Given the description of an element on the screen output the (x, y) to click on. 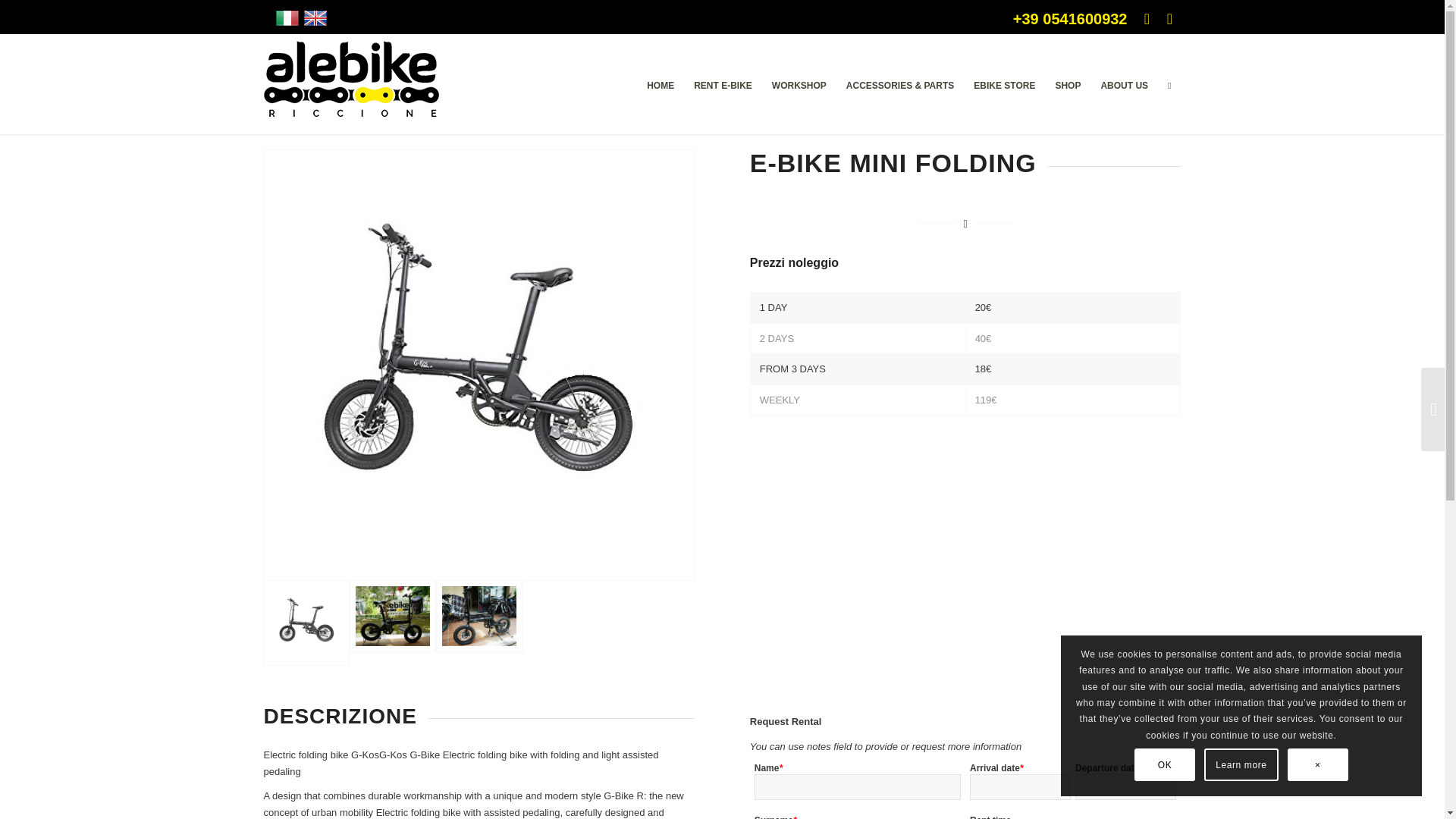
Instagram (1169, 18)
Facebook (1146, 18)
bici riccione assistenza vendita noleggio mtb elettriche 100 (351, 78)
bici-elettrica-pieghevole-noleggio-riccione (392, 622)
EBIKE STORE (1004, 85)
English (314, 17)
bici-elettrica-pieghevole-noleggio-riccione (392, 615)
Italiano (286, 17)
